Given the description of an element on the screen output the (x, y) to click on. 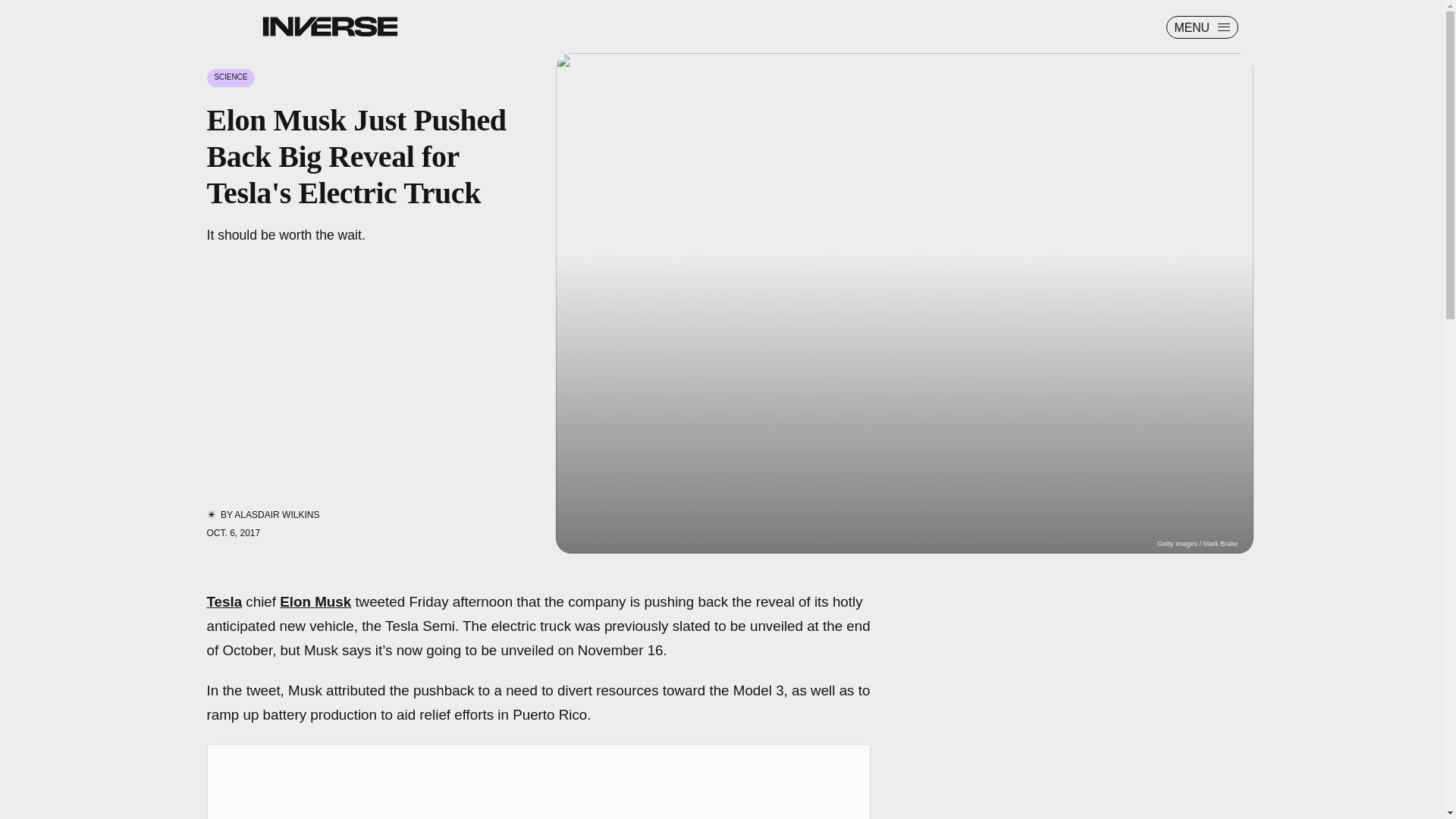
Inverse (328, 26)
ALASDAIR WILKINS (276, 514)
Tesla (223, 601)
Elon Musk (314, 601)
